Given the description of an element on the screen output the (x, y) to click on. 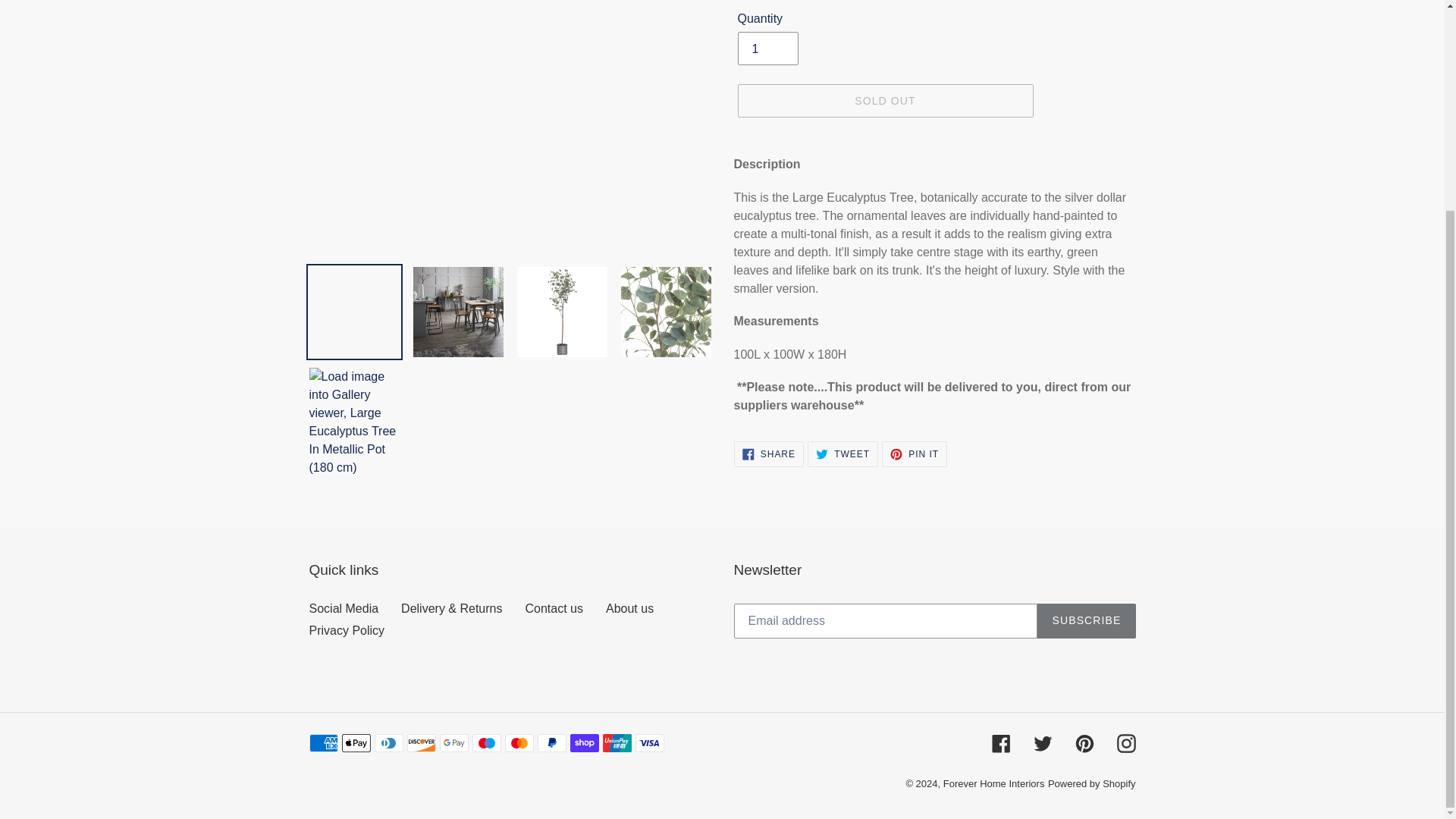
SOLD OUT (884, 100)
1 (766, 48)
